Given the description of an element on the screen output the (x, y) to click on. 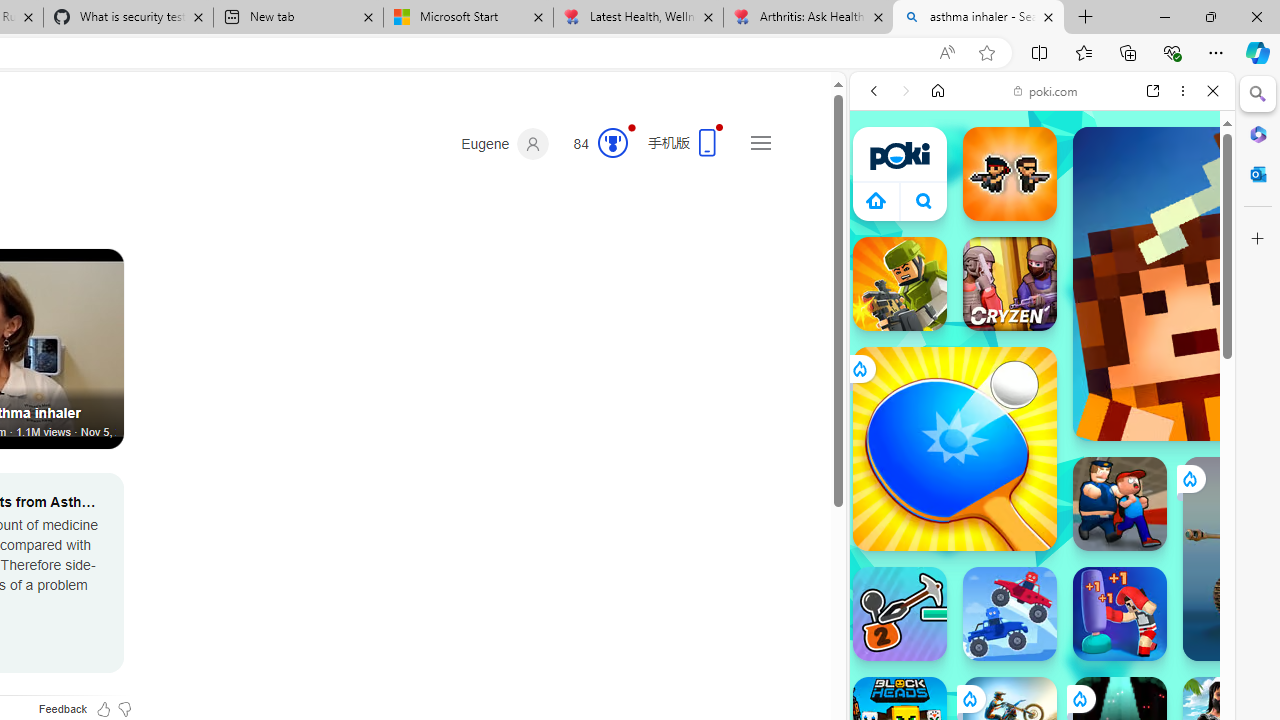
Class: B_5ykBA46kDOxiz_R9wm (923, 200)
Car Games (1042, 470)
Ping Pong Go! (954, 448)
Io Games (1042, 617)
Settings and quick links (760, 142)
Two Player Games (1042, 567)
Battle Wheels (1009, 613)
Poki (1034, 288)
